Given the description of an element on the screen output the (x, y) to click on. 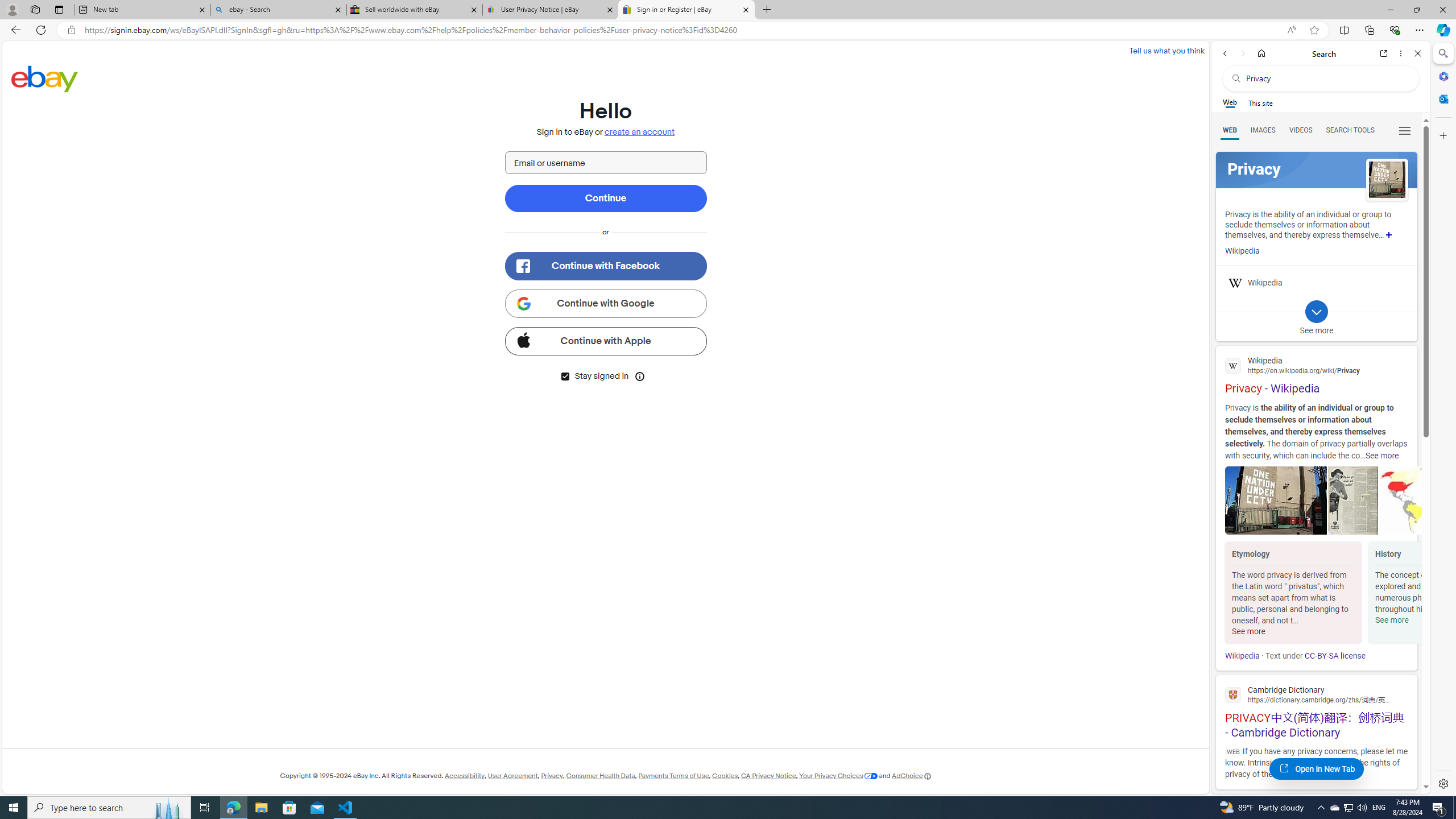
Customize (1442, 135)
Wikipedia (1241, 655)
CA Privacy Notice (768, 775)
WEB   (1230, 130)
CC-BY-SA license (1334, 655)
